Given the description of an element on the screen output the (x, y) to click on. 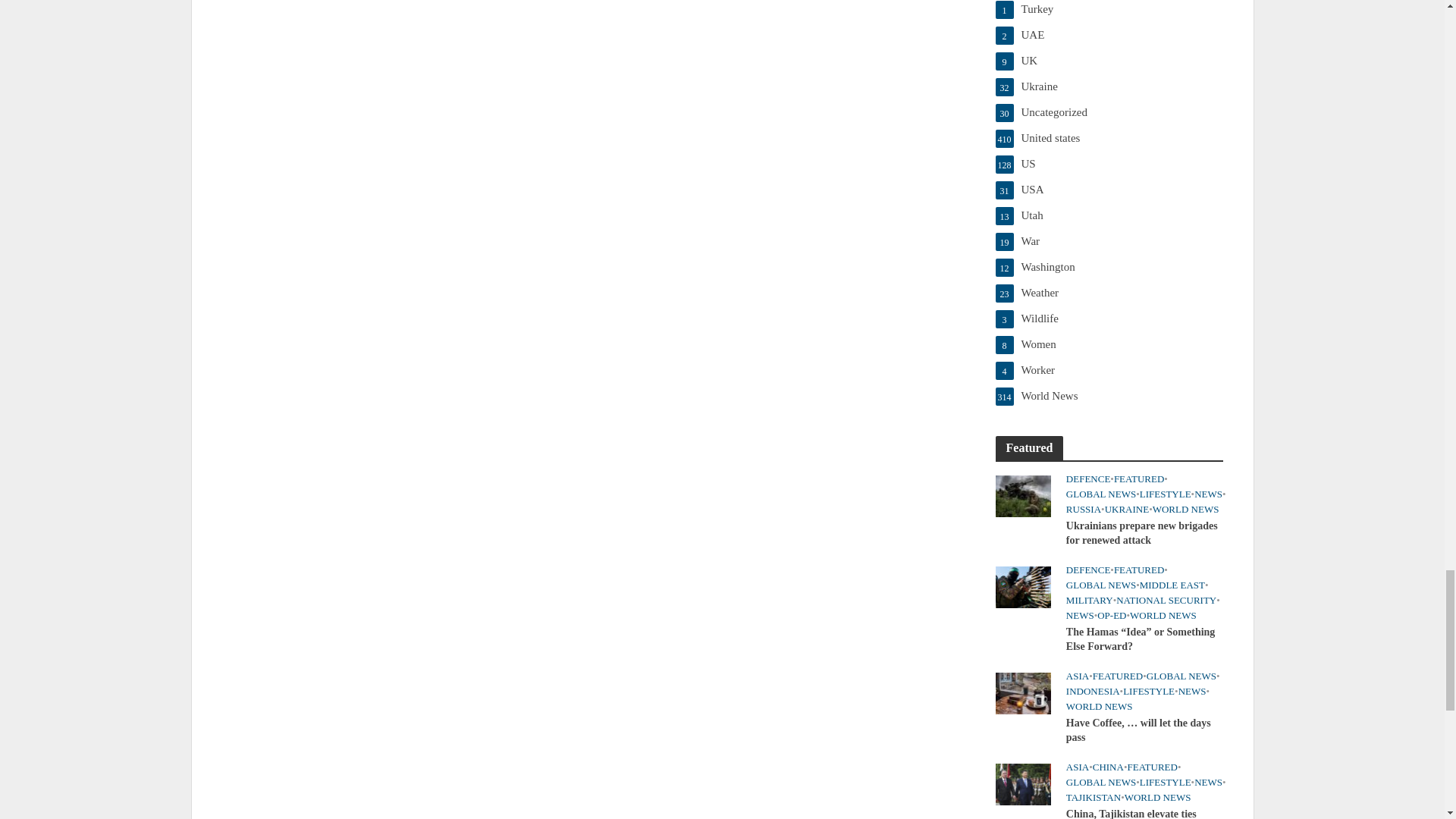
Ukrainians prepare new brigades for renewed attack (1021, 494)
